Given the description of an element on the screen output the (x, y) to click on. 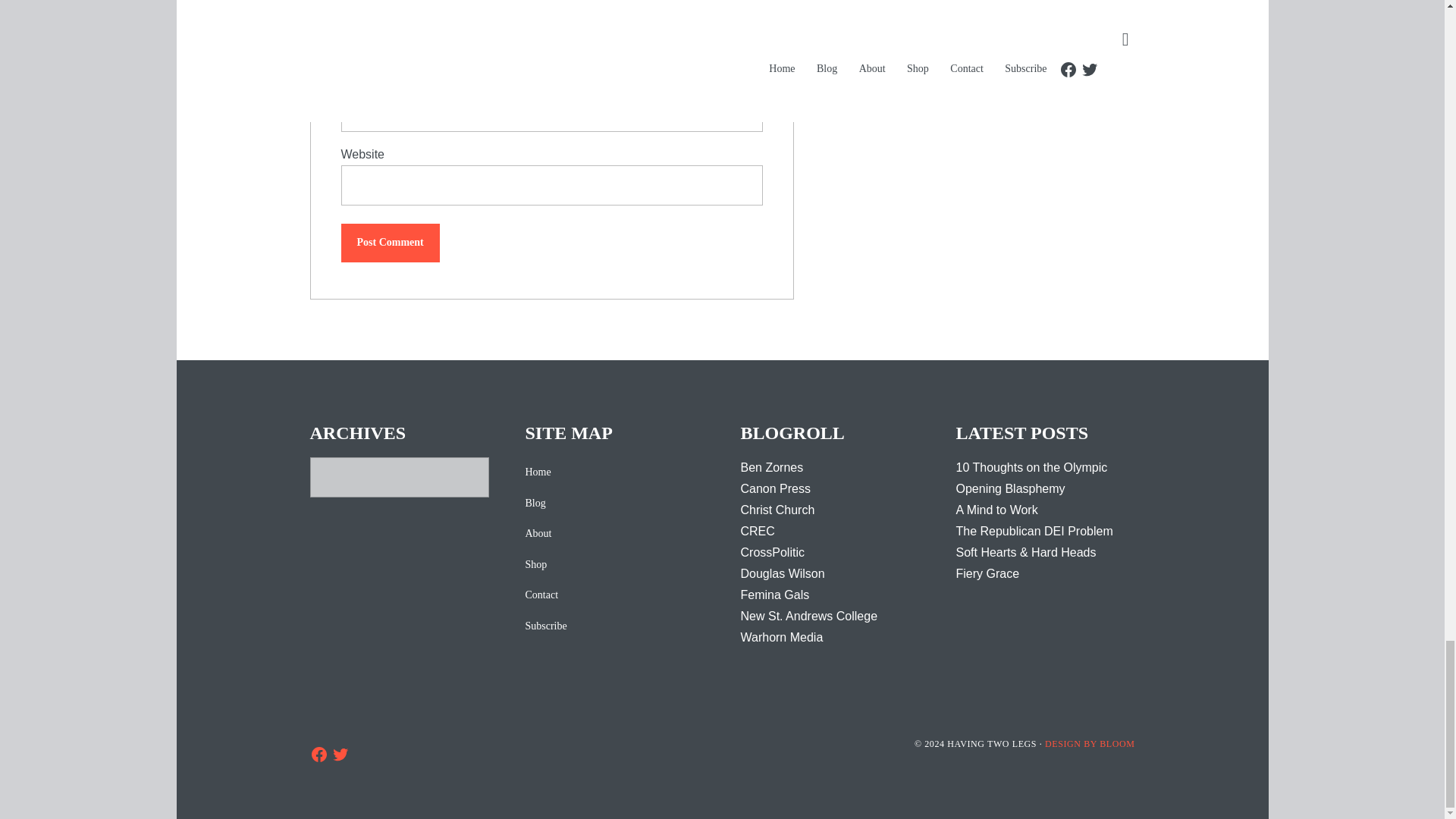
Post Comment (389, 242)
Post Comment (389, 242)
